Given the description of an element on the screen output the (x, y) to click on. 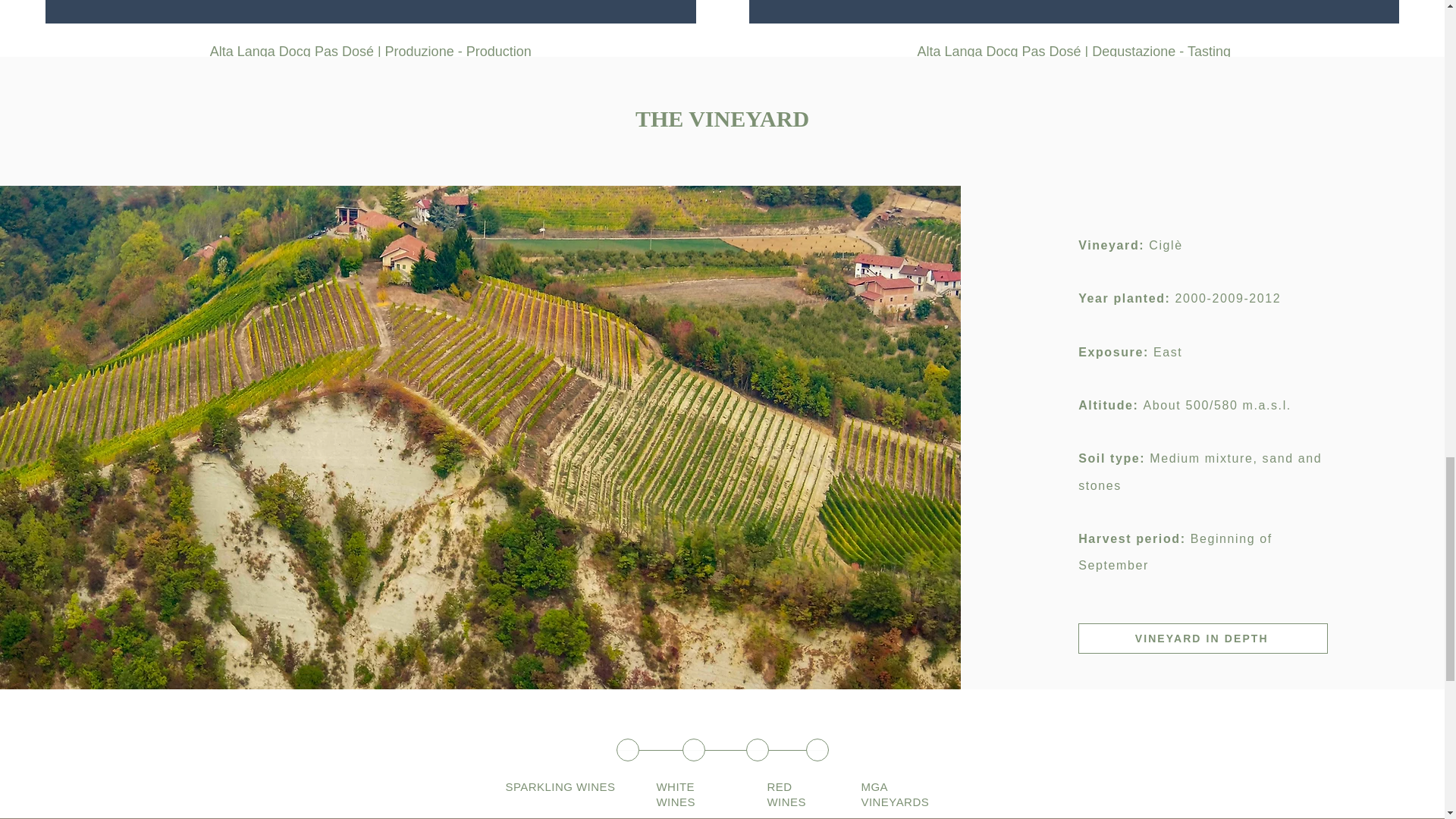
VINEYARD IN DEPTH (1202, 638)
RED WINES (786, 794)
SPARKLING WINES (559, 786)
MGA VINEYARDS (895, 794)
WHITE WINES (675, 794)
